Given the description of an element on the screen output the (x, y) to click on. 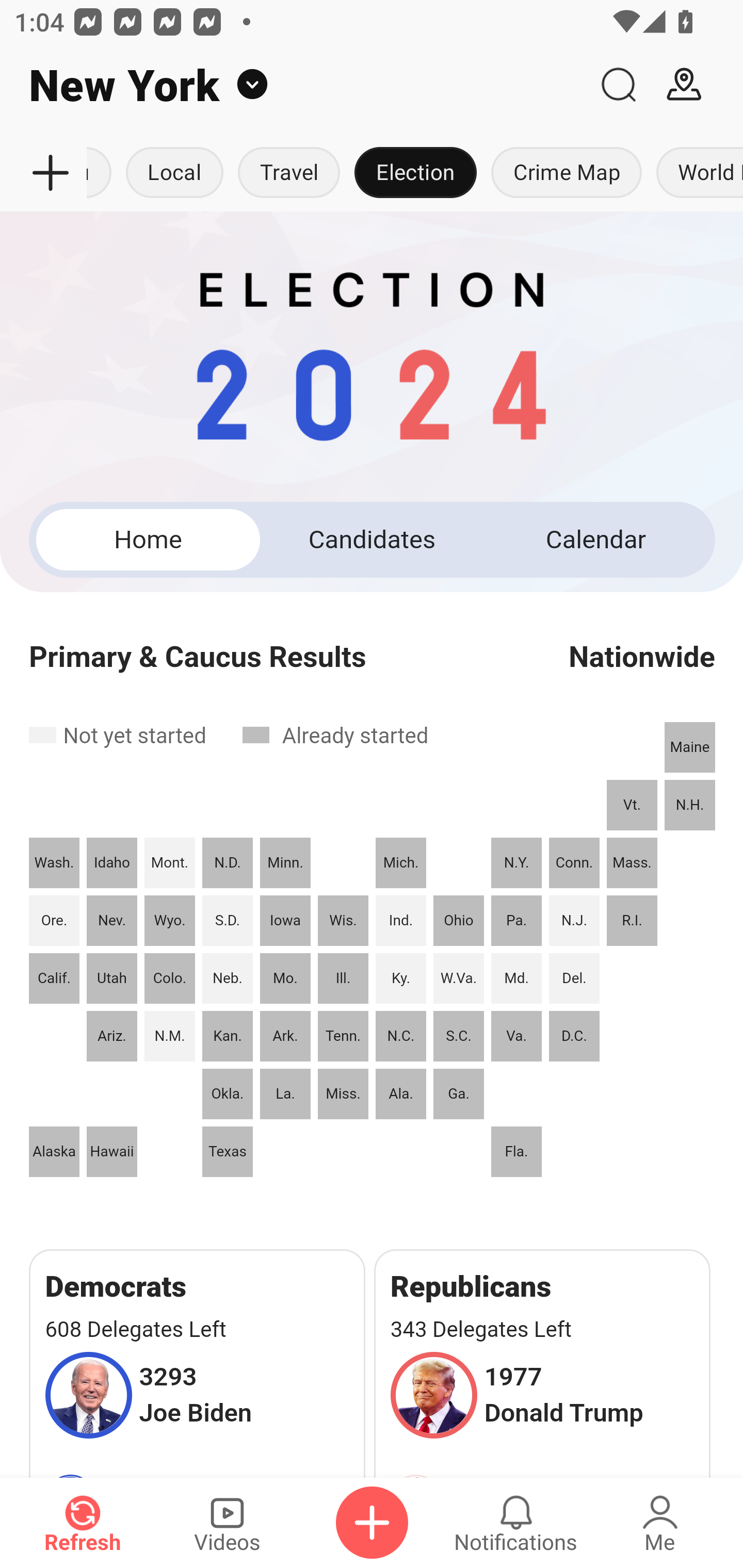
New York (292, 84)
Local (174, 172)
Travel (288, 172)
Election (414, 172)
Crime Map (566, 172)
World News (696, 172)
Videos (227, 1522)
Notifications (516, 1522)
Me (659, 1522)
